Given the description of an element on the screen output the (x, y) to click on. 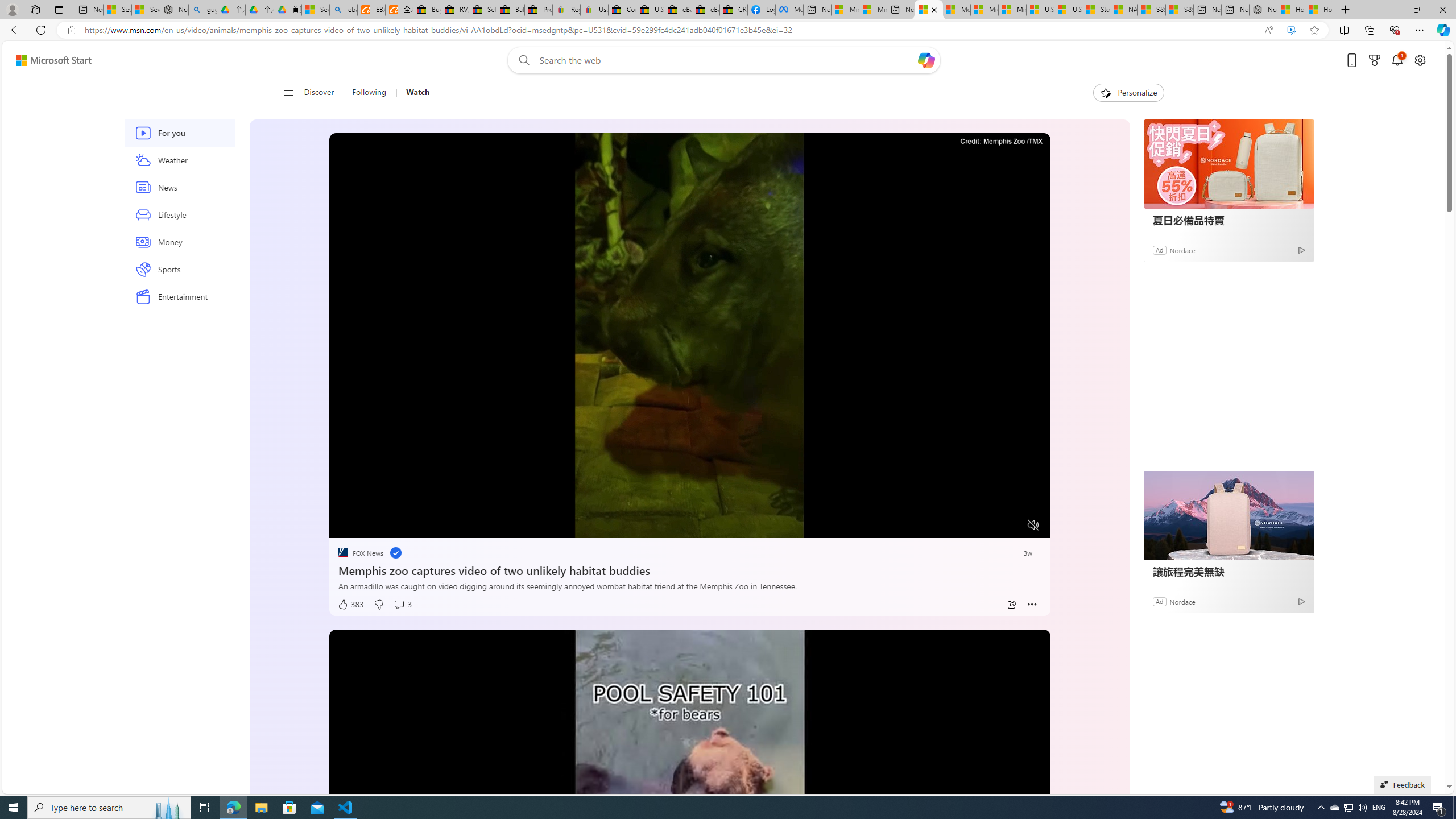
383 Like (349, 604)
Captions (988, 525)
Share (1010, 604)
Fullscreen (1011, 525)
